Given the description of an element on the screen output the (x, y) to click on. 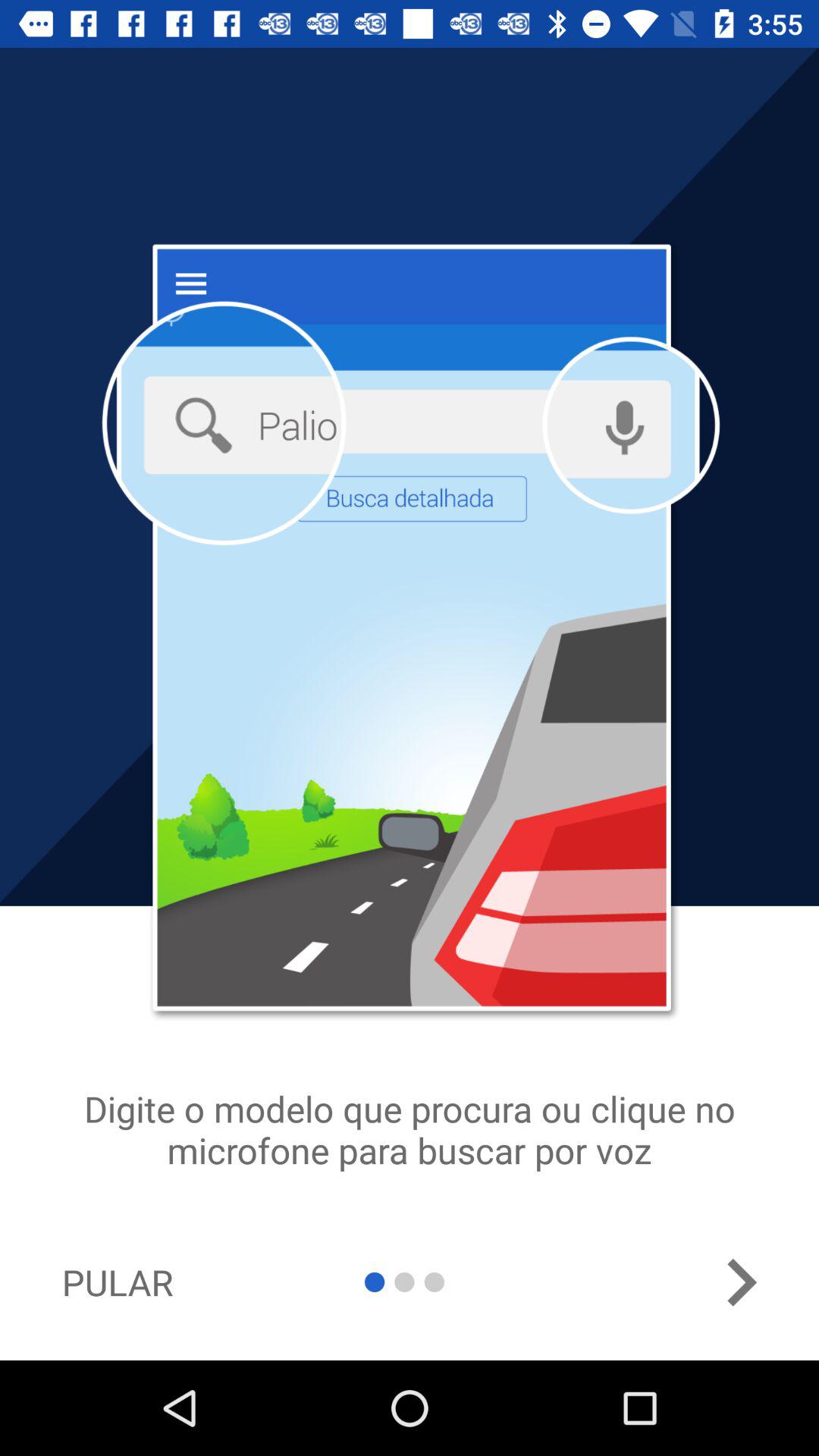
press the icon at the bottom right corner (740, 1282)
